Given the description of an element on the screen output the (x, y) to click on. 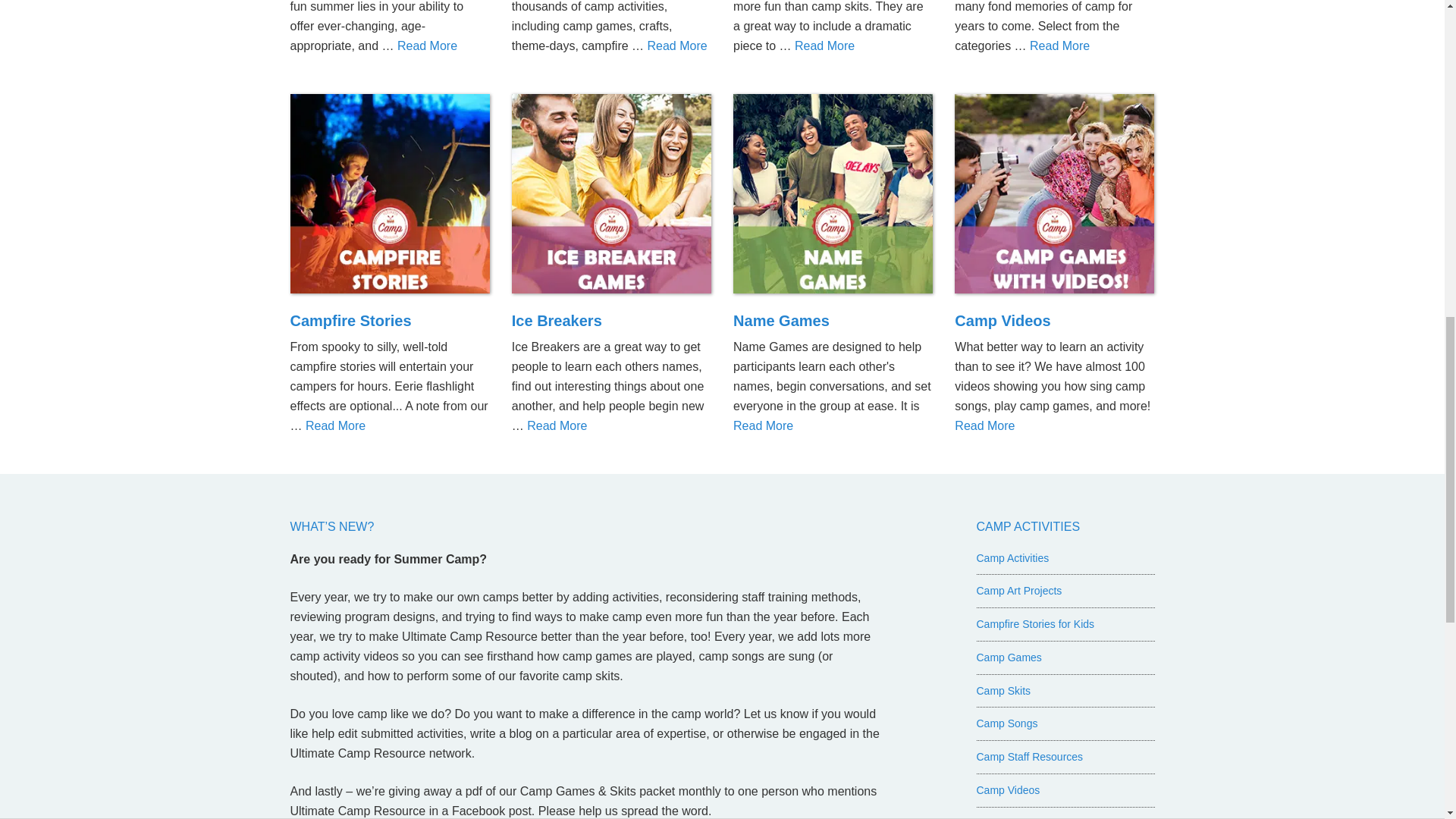
Campfire Stories for Kids (349, 320)
Ice Breakers (557, 320)
Campfire Stories for Kids (389, 196)
Name Games (781, 320)
Camp Videos (1002, 320)
Ice Breakers (611, 196)
Camp Videos (1054, 196)
